Given the description of an element on the screen output the (x, y) to click on. 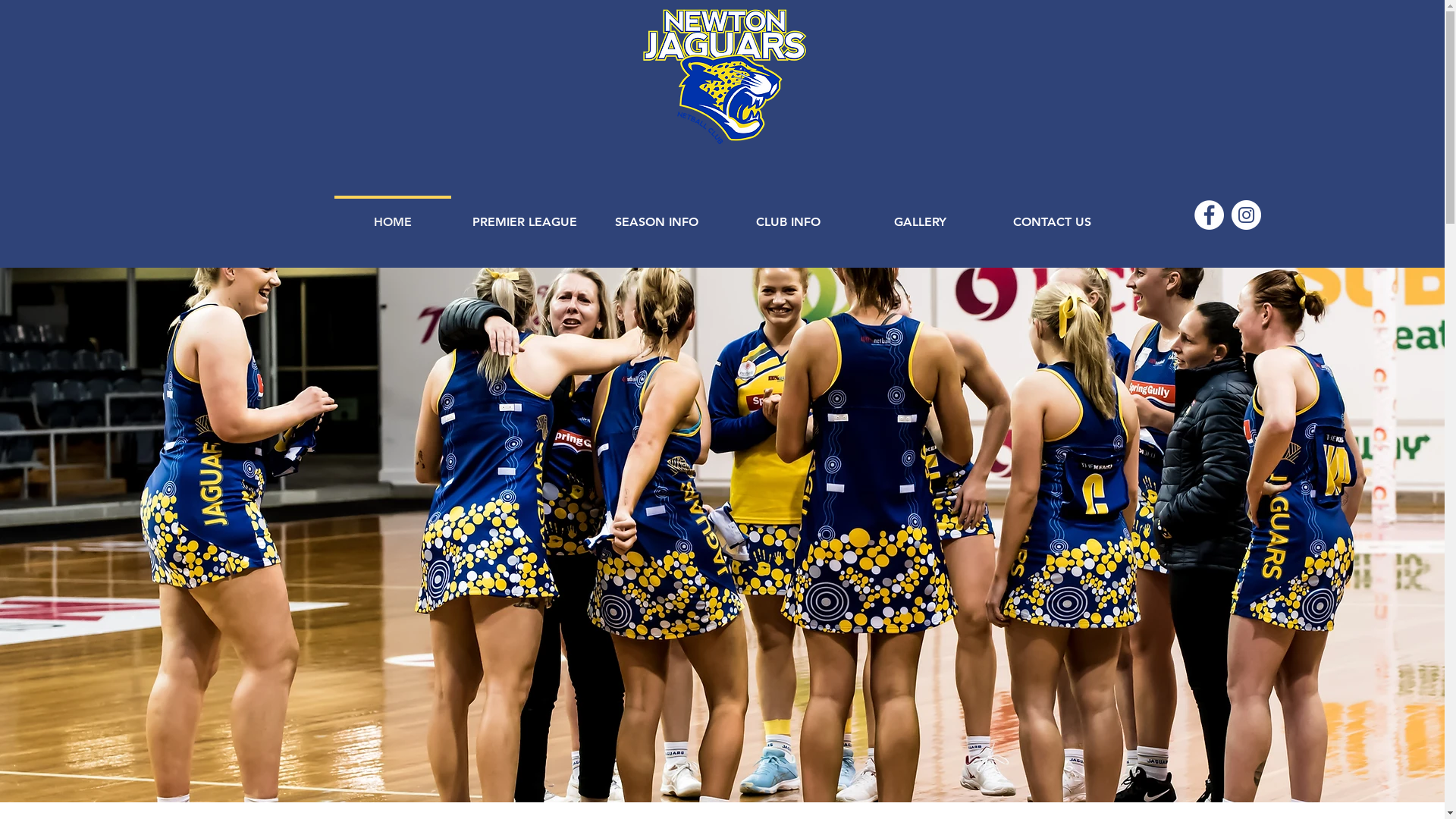
CLUB INFO Element type: text (787, 214)
SEASON INFO Element type: text (655, 214)
PREMIER LEAGUE Element type: text (523, 214)
GALLERY Element type: text (919, 214)
CONTACT US Element type: text (1051, 214)
HOME Element type: text (392, 214)
